Given the description of an element on the screen output the (x, y) to click on. 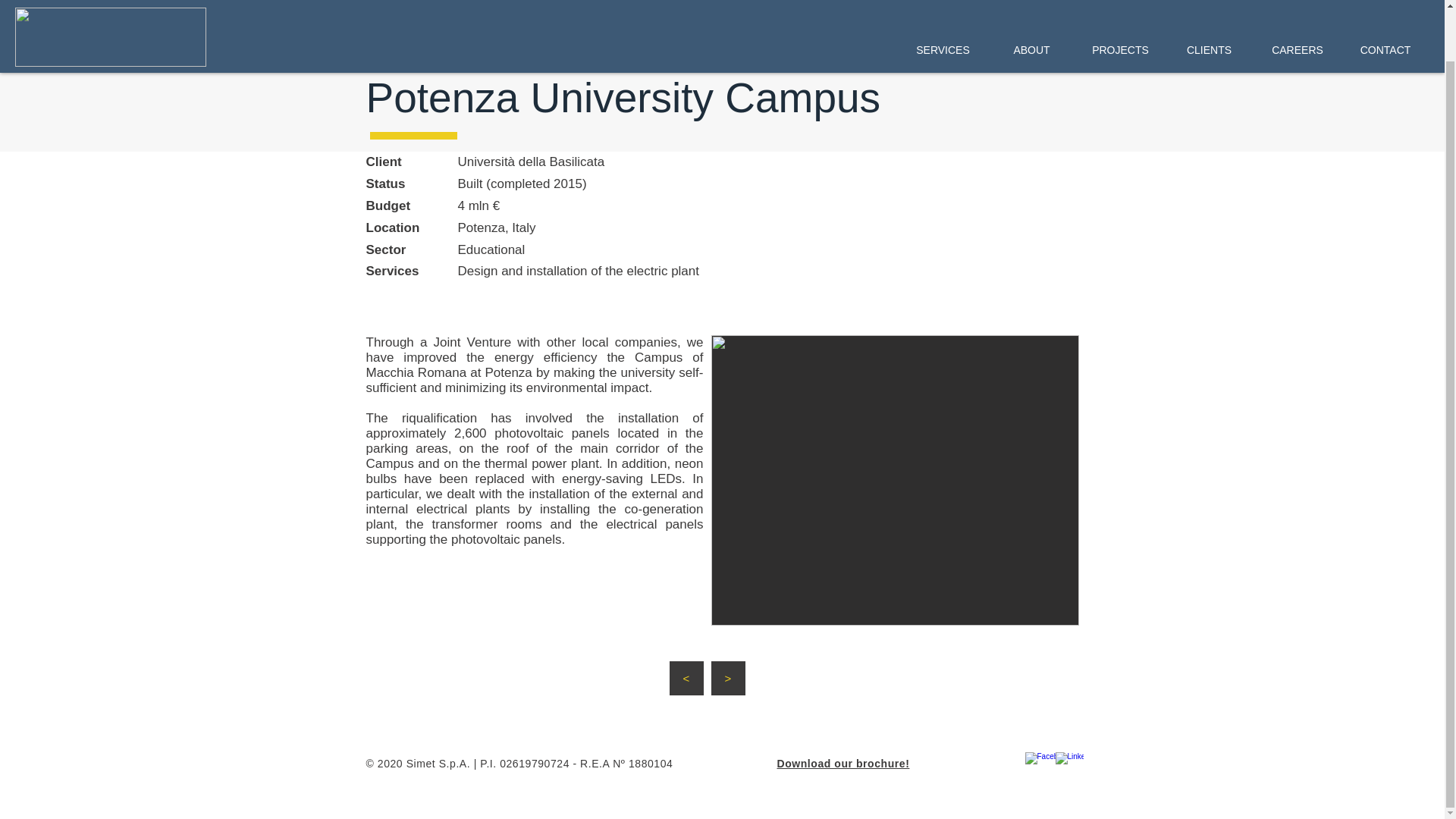
SERVICES (942, 4)
CAREERS (1296, 4)
PROJECTS (1119, 4)
ABOUT (1031, 4)
Download our brochure! (842, 763)
CLIENTS (1208, 4)
CONTACT (1384, 4)
